Given the description of an element on the screen output the (x, y) to click on. 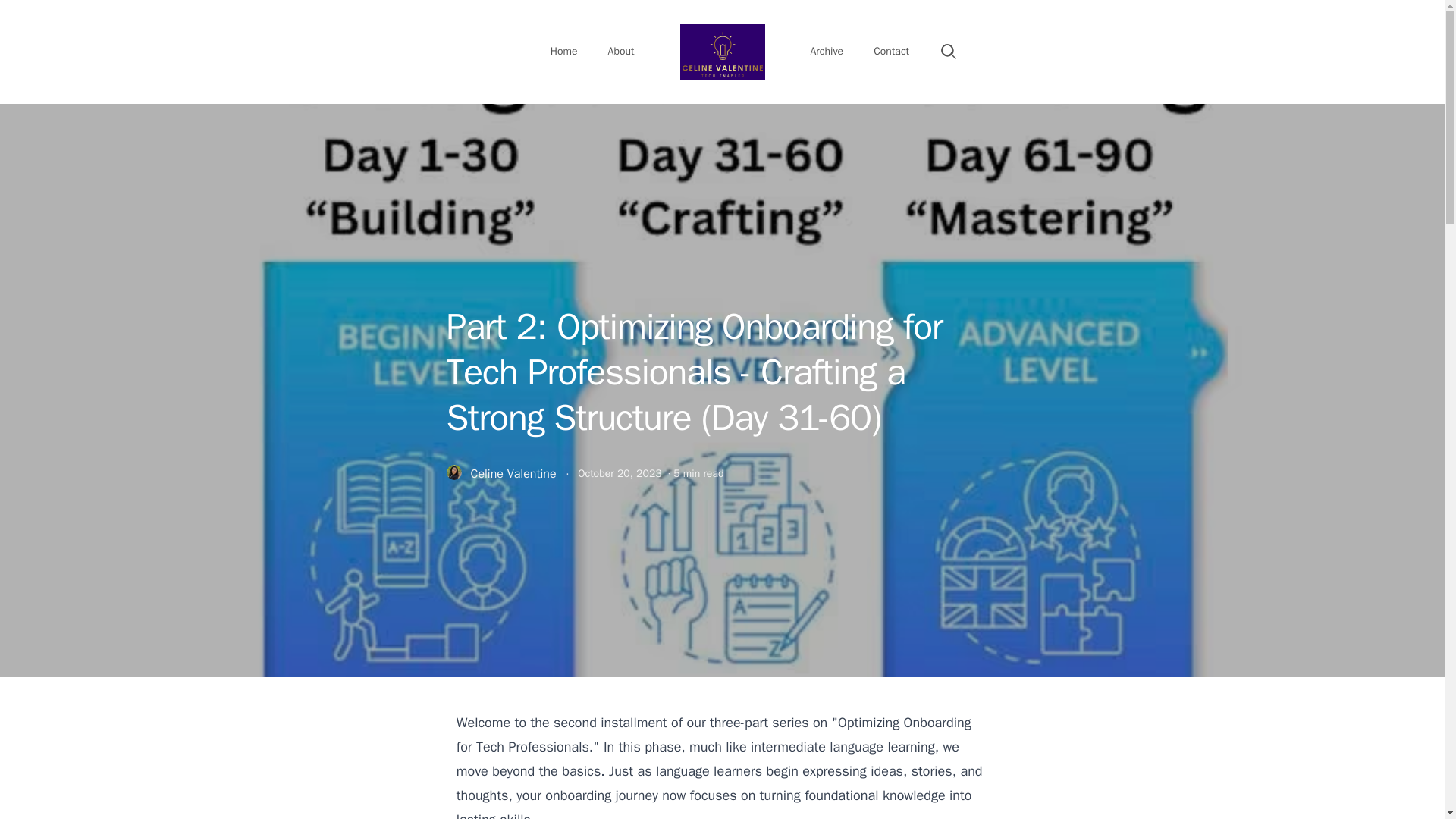
About (620, 51)
Home (563, 51)
Archive (826, 51)
Contact (891, 51)
Celine Valentine (513, 473)
